Given the description of an element on the screen output the (x, y) to click on. 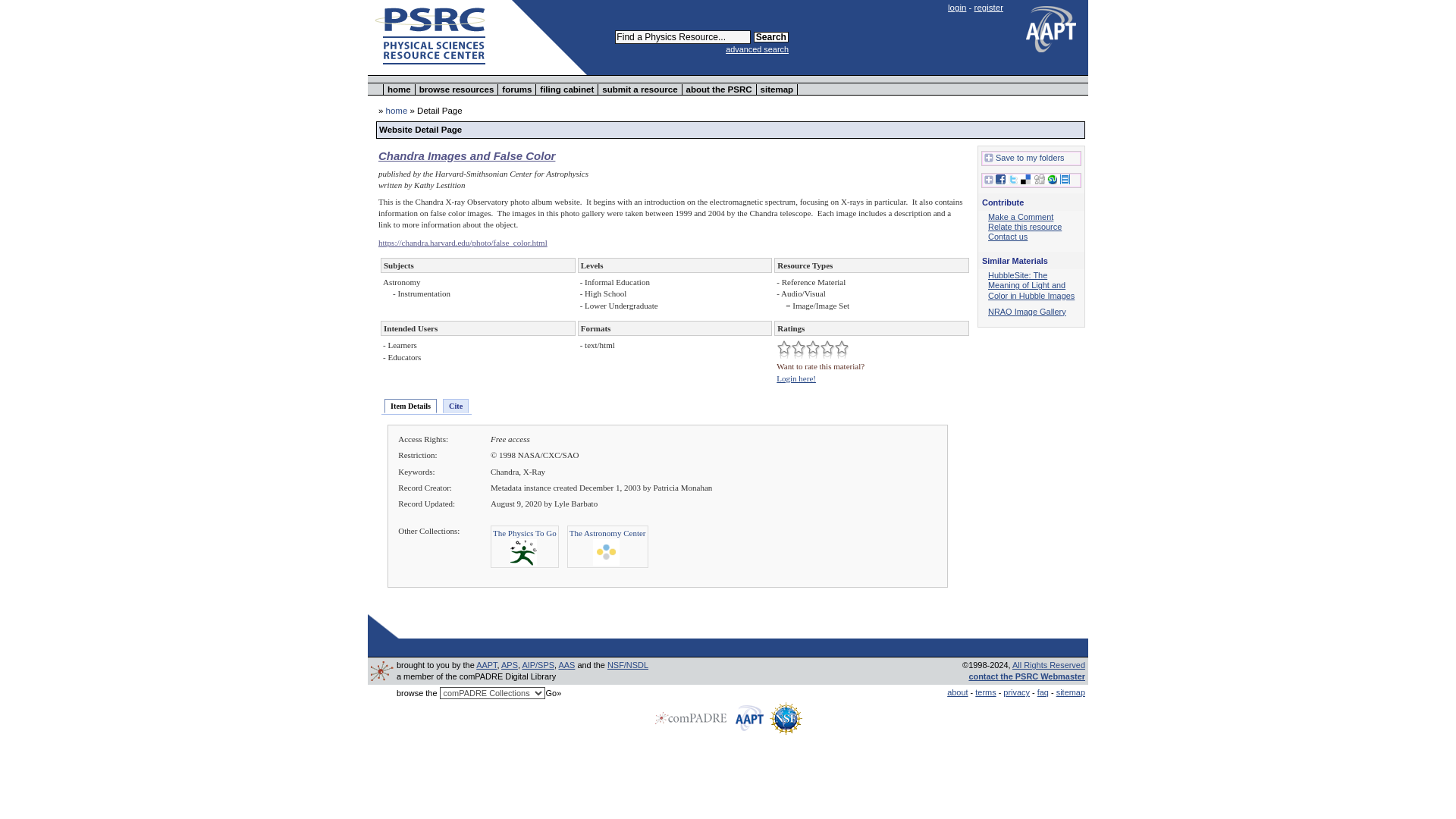
The Physics To Go (524, 532)
Login here! (795, 378)
Search (771, 36)
advanced search (757, 49)
Find a Physics Resource... (682, 37)
offsite link (462, 242)
filing cabinet (566, 89)
login (956, 7)
Item Details (410, 405)
submit a resource (639, 89)
